Given the description of an element on the screen output the (x, y) to click on. 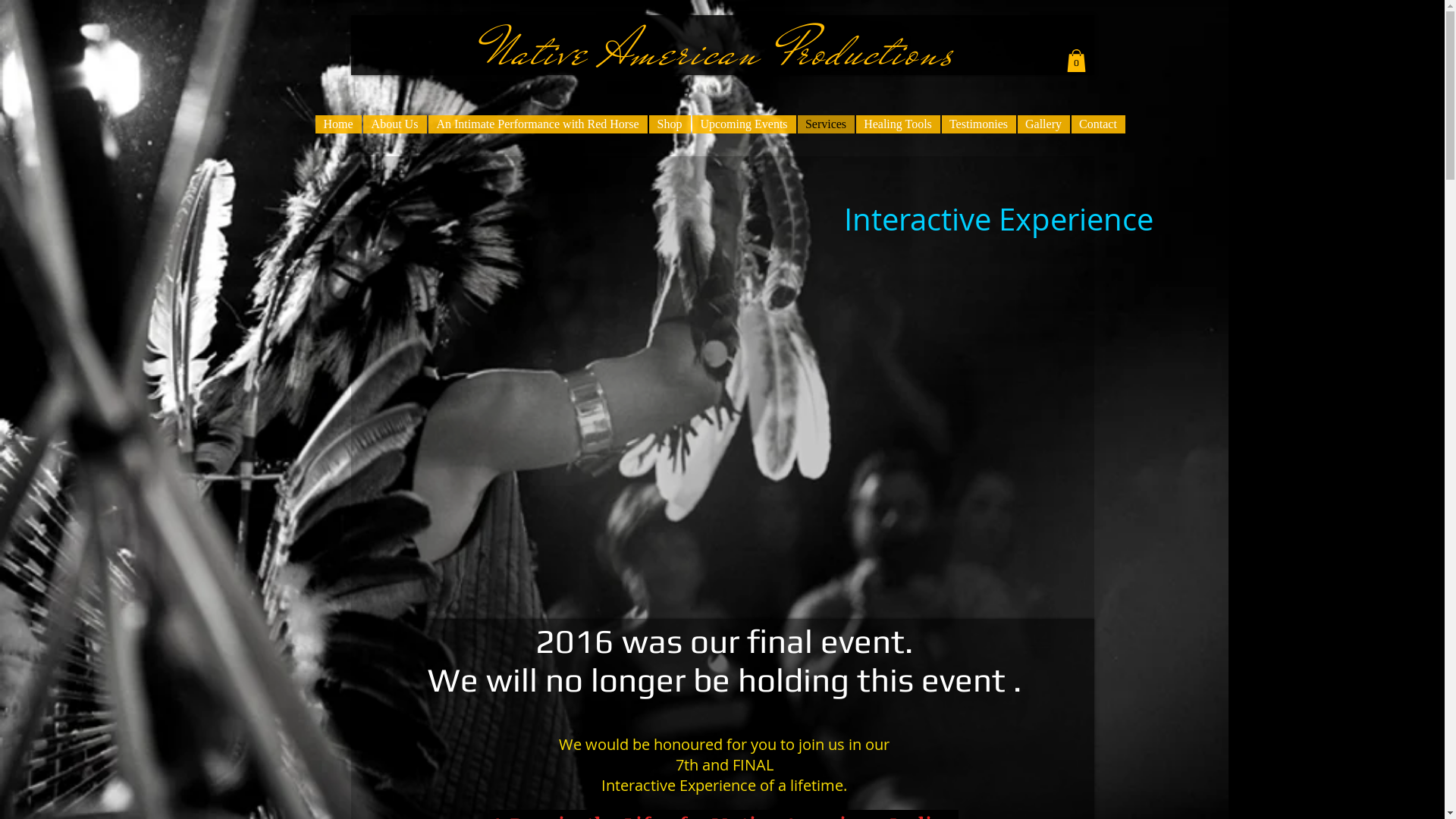
An Intimate Performance with Red Horse Element type: text (536, 124)
Services Element type: text (825, 124)
Shop Element type: text (669, 124)
Testimonies Element type: text (978, 124)
Gallery Element type: text (1043, 124)
Upcoming Events Element type: text (743, 124)
Home Element type: text (338, 124)
0 Element type: text (1075, 60)
Healing Tools Element type: text (897, 124)
Contact Element type: text (1097, 124)
About Us Element type: text (394, 124)
